Given the description of an element on the screen output the (x, y) to click on. 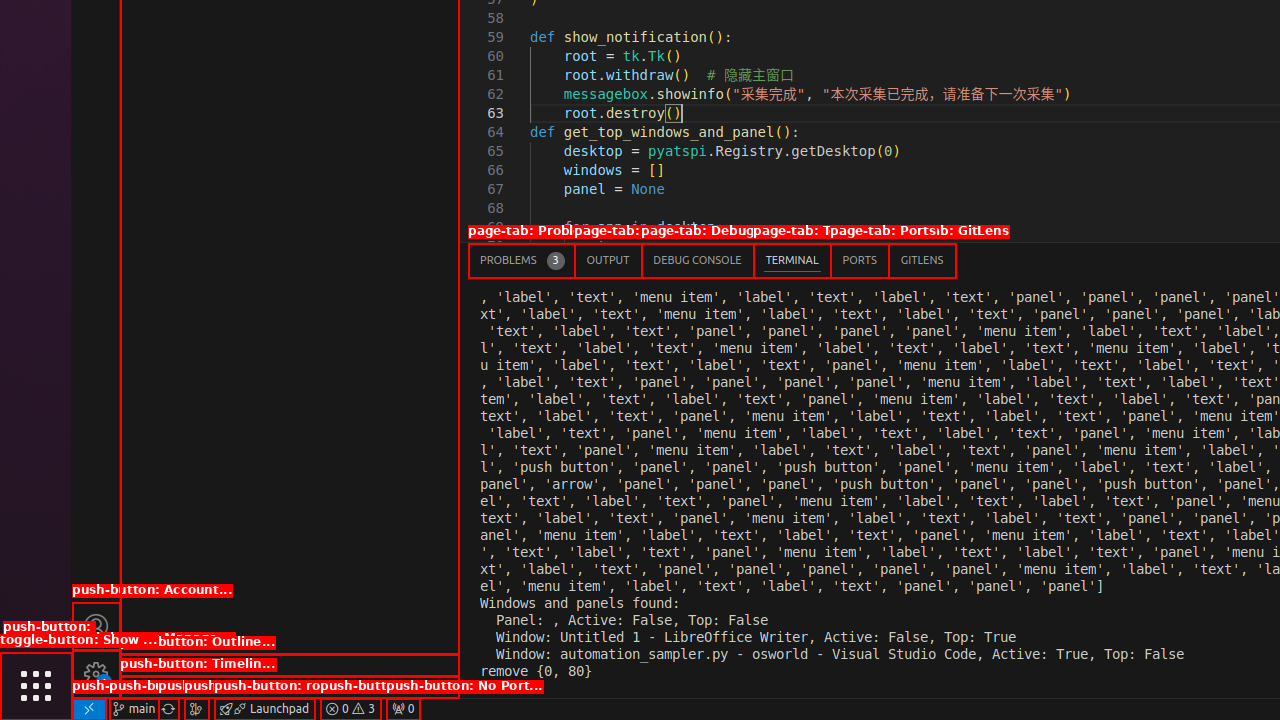
remote Element type: push-button (89, 709)
rocket gitlens-unplug Launchpad, GitLens Launchpad ᴘʀᴇᴠɪᴇᴡ    &mdash;    [$(question)](command:gitlens.launchpad.indicator.action?%22info%22 "What is this?") [$(gear)](command:workbench.action.openSettings?%22gitlens.launchpad%22 "Settings")  |  [$(circle-slash) Hide](command:gitlens.launchpad.indicator.action?%22hide%22 "Hide") --- [Launchpad](command:gitlens.launchpad.indicator.action?%info%22 "Learn about Launchpad") organizes your pull requests into actionable groups to help you focus and keep your team unblocked. It's always accessible using the `GitLens: Open Launchpad` command from the Command Palette. --- [Connect an integration](command:gitlens.showLaunchpad?%7B%22source%22%3A%22launchpad-indicator%22%7D "Connect an integration") to get started. Element type: push-button (264, 709)
Problems (Ctrl+Shift+M) - Total 3 Problems Element type: page-tab (521, 260)
Output (Ctrl+K Ctrl+H) Element type: page-tab (608, 260)
